Given the description of an element on the screen output the (x, y) to click on. 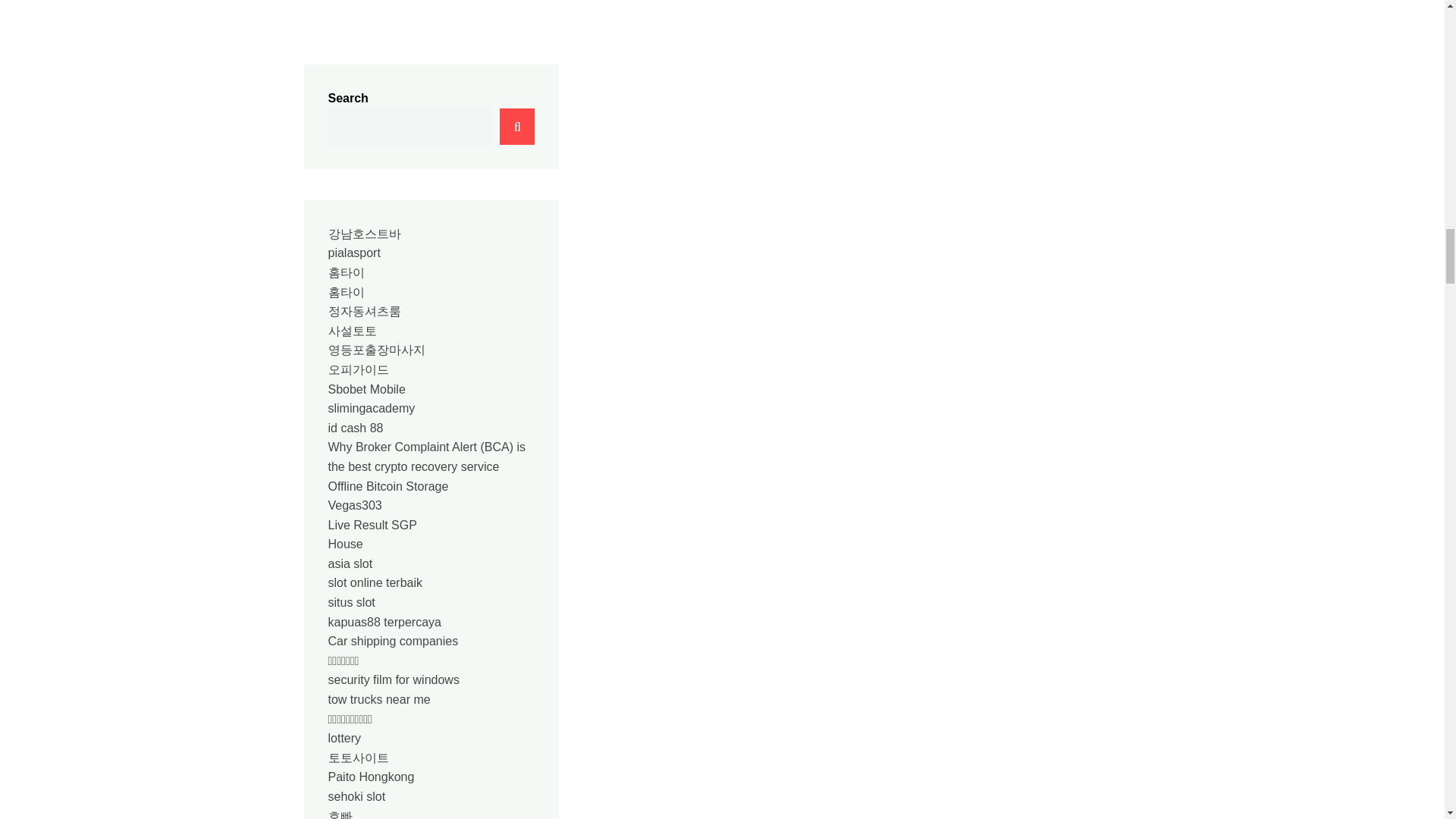
Search (516, 126)
pialasport (353, 252)
